Given the description of an element on the screen output the (x, y) to click on. 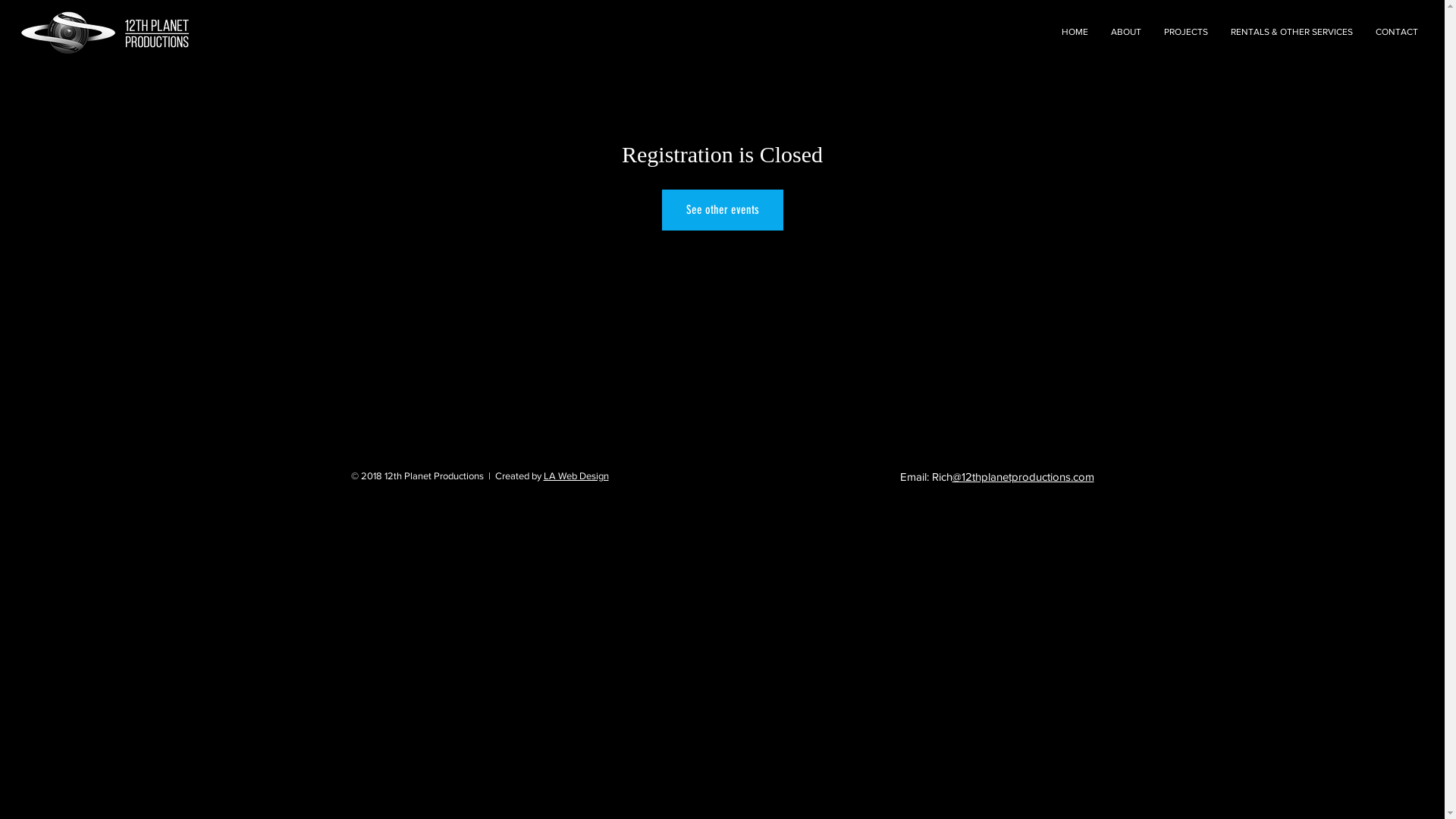
RENTALS & OTHER SERVICES Element type: text (1291, 31)
ABOUT Element type: text (1125, 31)
CONTACT Element type: text (1396, 31)
HOME Element type: text (1074, 31)
LA Web Design Element type: text (575, 475)
PROJECTS Element type: text (1185, 31)
See other events Element type: text (721, 209)
Email: Rich@12thplanetproductions.com Element type: text (996, 476)
